Given the description of an element on the screen output the (x, y) to click on. 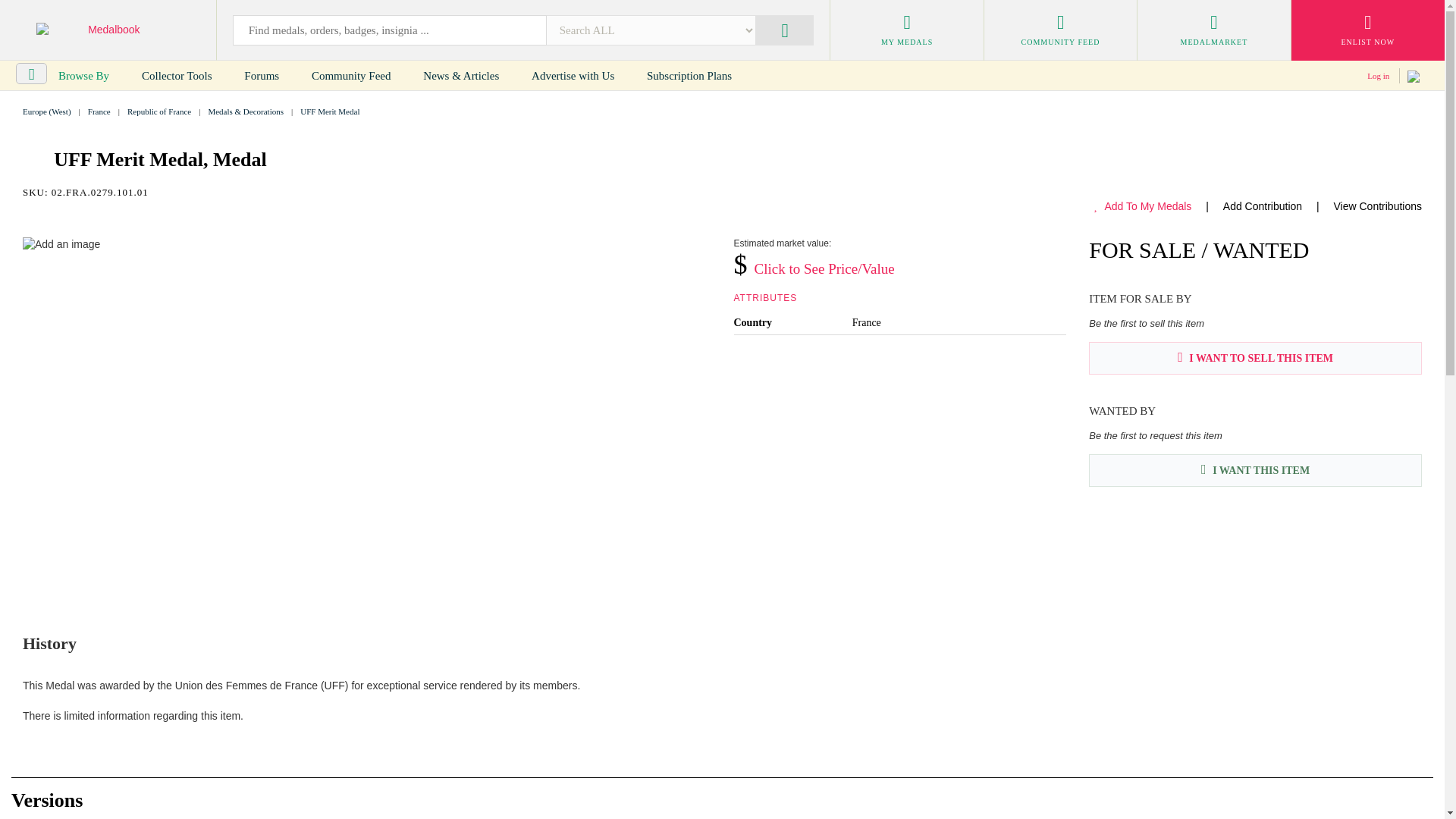
Add Contribution (1262, 205)
Collector Tools (176, 75)
Subscription Plans (688, 75)
I WANT THIS ITEM (1255, 470)
Add To My Medals (1142, 205)
Medalbook (107, 29)
MY MEDALS (905, 30)
View Contributions (1377, 205)
COMMUNITY FEED (1060, 30)
Community Feed (351, 75)
